Given the description of an element on the screen output the (x, y) to click on. 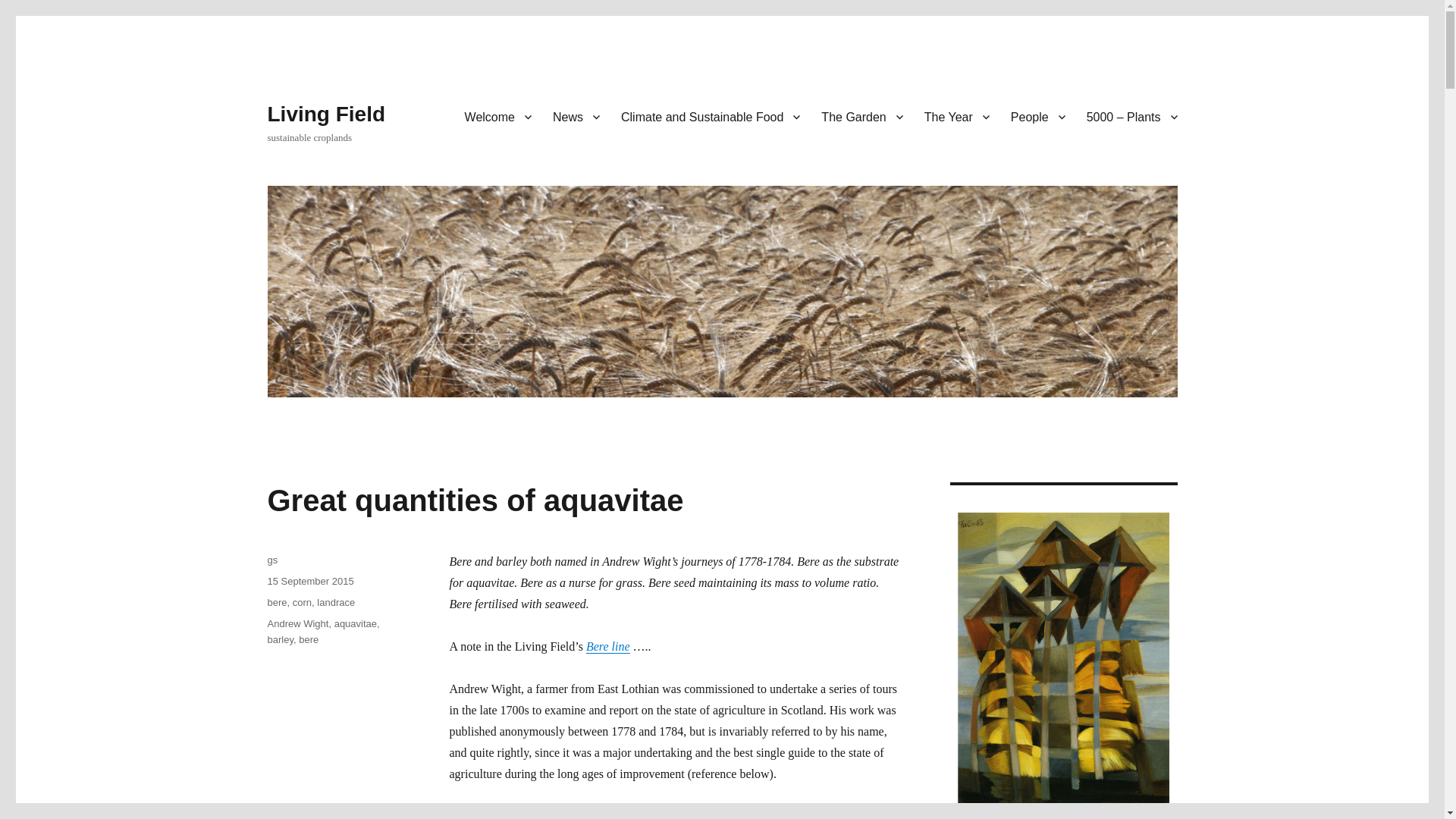
News (575, 116)
Welcome (497, 116)
Climate and Sustainable Food (710, 116)
The Garden (861, 116)
The Year (957, 116)
Living Field (325, 114)
